Given the description of an element on the screen output the (x, y) to click on. 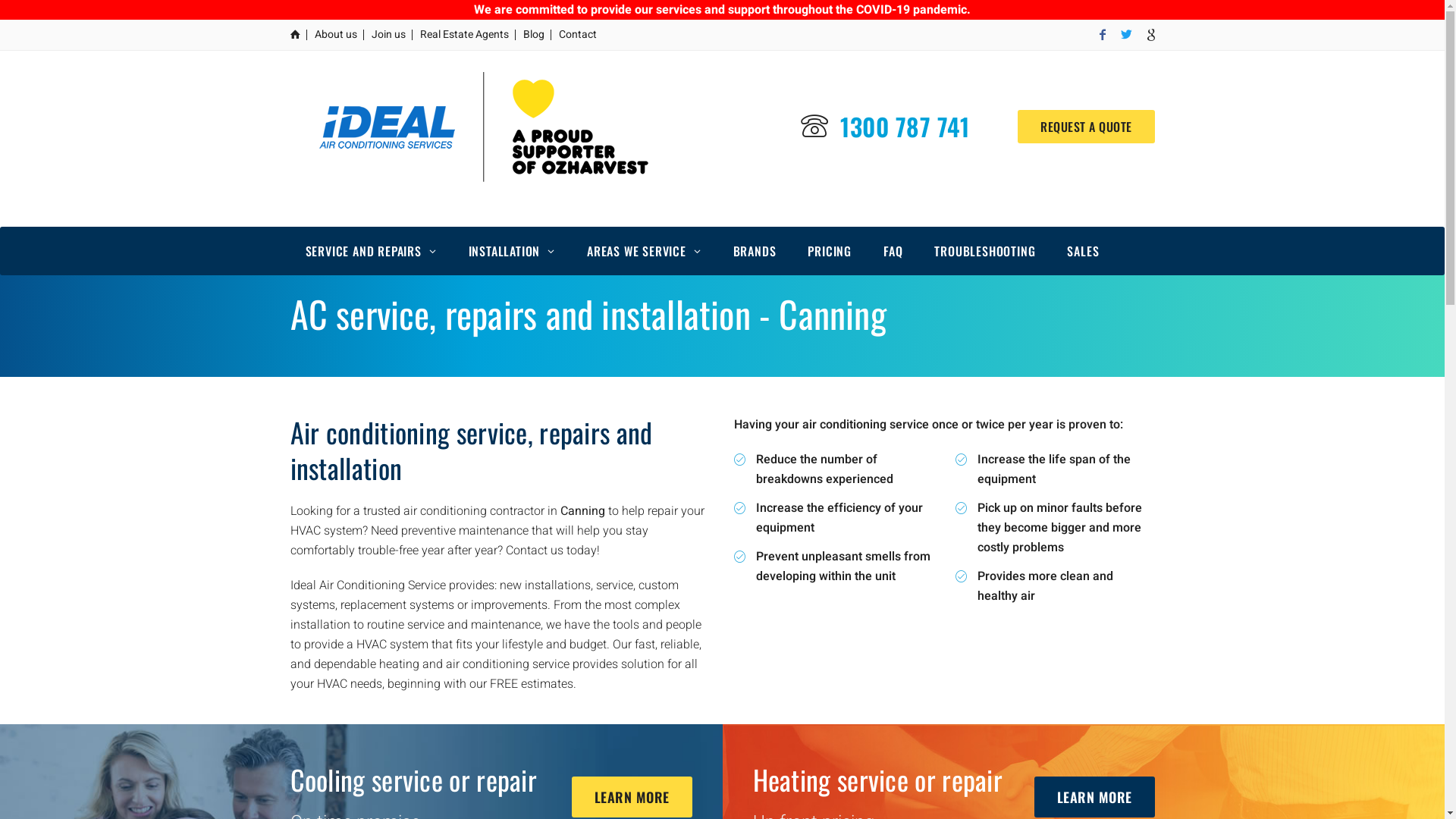
Contact Element type: text (577, 34)
LEARN MORE Element type: text (631, 796)
air conditioning service Element type: hover (482, 126)
Blog Element type: text (533, 34)
LEARN MORE Element type: text (1094, 796)
FAQ Element type: text (892, 250)
INSTALLATION Element type: text (511, 250)
SALES Element type: text (1082, 250)
Join us Element type: text (388, 34)
PRICING Element type: text (829, 250)
REQUEST A QUOTE Element type: text (1085, 126)
About us Element type: text (334, 34)
BRANDS Element type: text (754, 250)
Real Estate Agents Element type: text (464, 34)
SERVICE AND REPAIRS Element type: text (370, 250)
AREAS WE SERVICE Element type: text (643, 250)
TROUBLESHOOTING Element type: text (984, 250)
1300 787 741 Element type: text (904, 126)
